Given the description of an element on the screen output the (x, y) to click on. 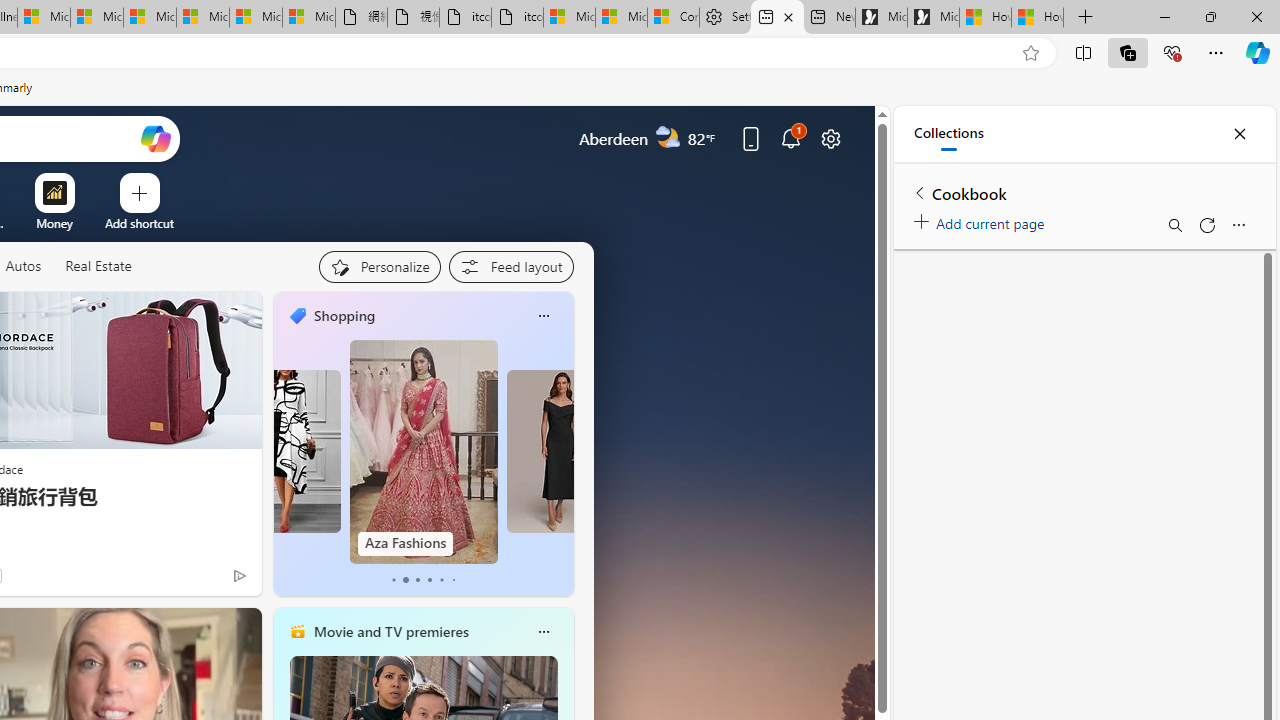
tab-5 (452, 579)
Real Estate (97, 267)
Feed settings (510, 266)
